Given the description of an element on the screen output the (x, y) to click on. 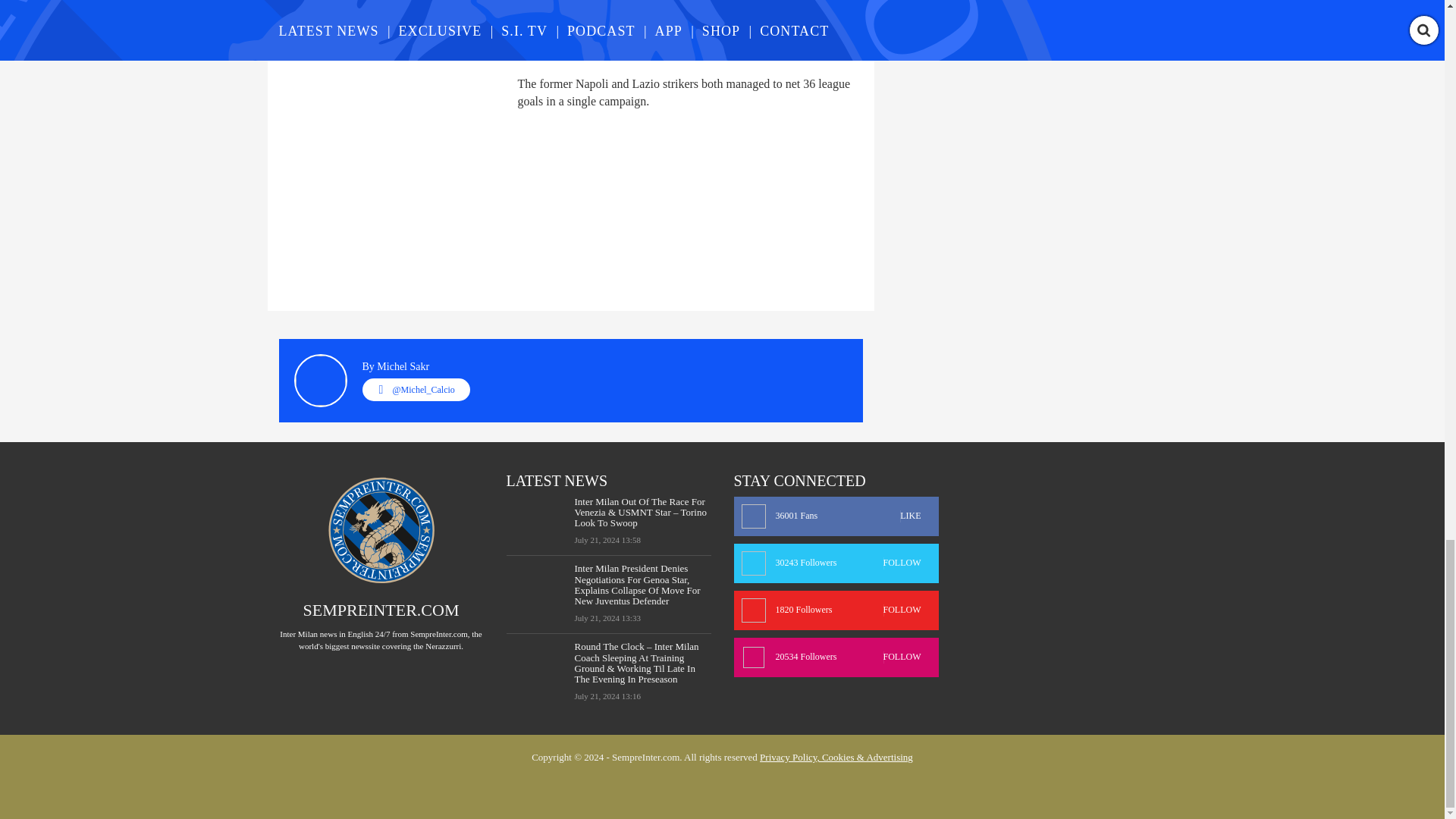
YouTube video player (491, 29)
View more articles by Michel Sakr (403, 366)
SEMPREINTER.COM (381, 609)
Michel Sakr (403, 366)
